Given the description of an element on the screen output the (x, y) to click on. 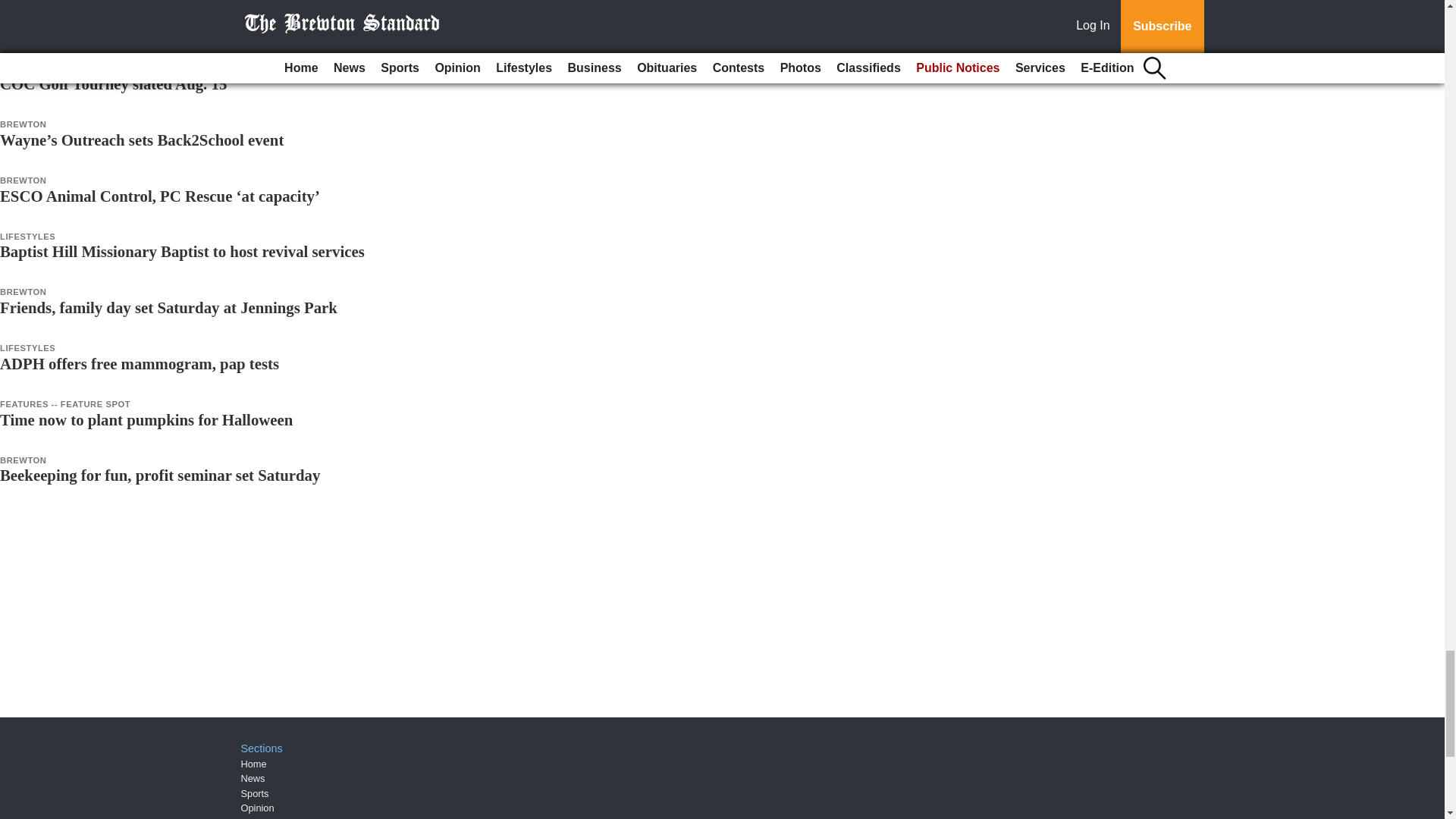
COC Golf Tourney slated Aug. 15 (113, 83)
